Given the description of an element on the screen output the (x, y) to click on. 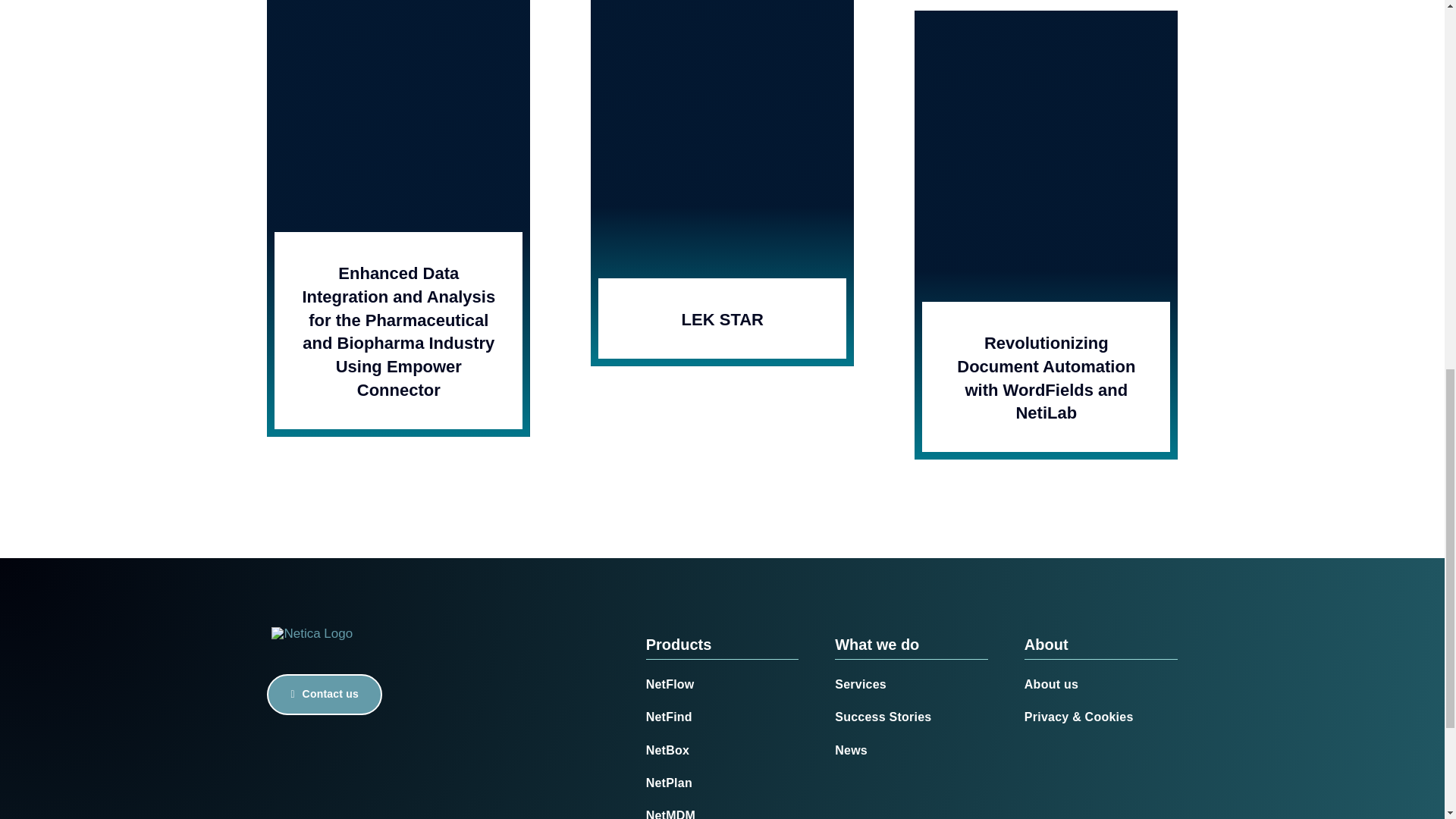
NetFind (722, 715)
NetBox (722, 749)
Contact us (323, 694)
NetMDM (722, 810)
NetFlow (722, 683)
Products (678, 644)
NetPlan (722, 781)
